Given the description of an element on the screen output the (x, y) to click on. 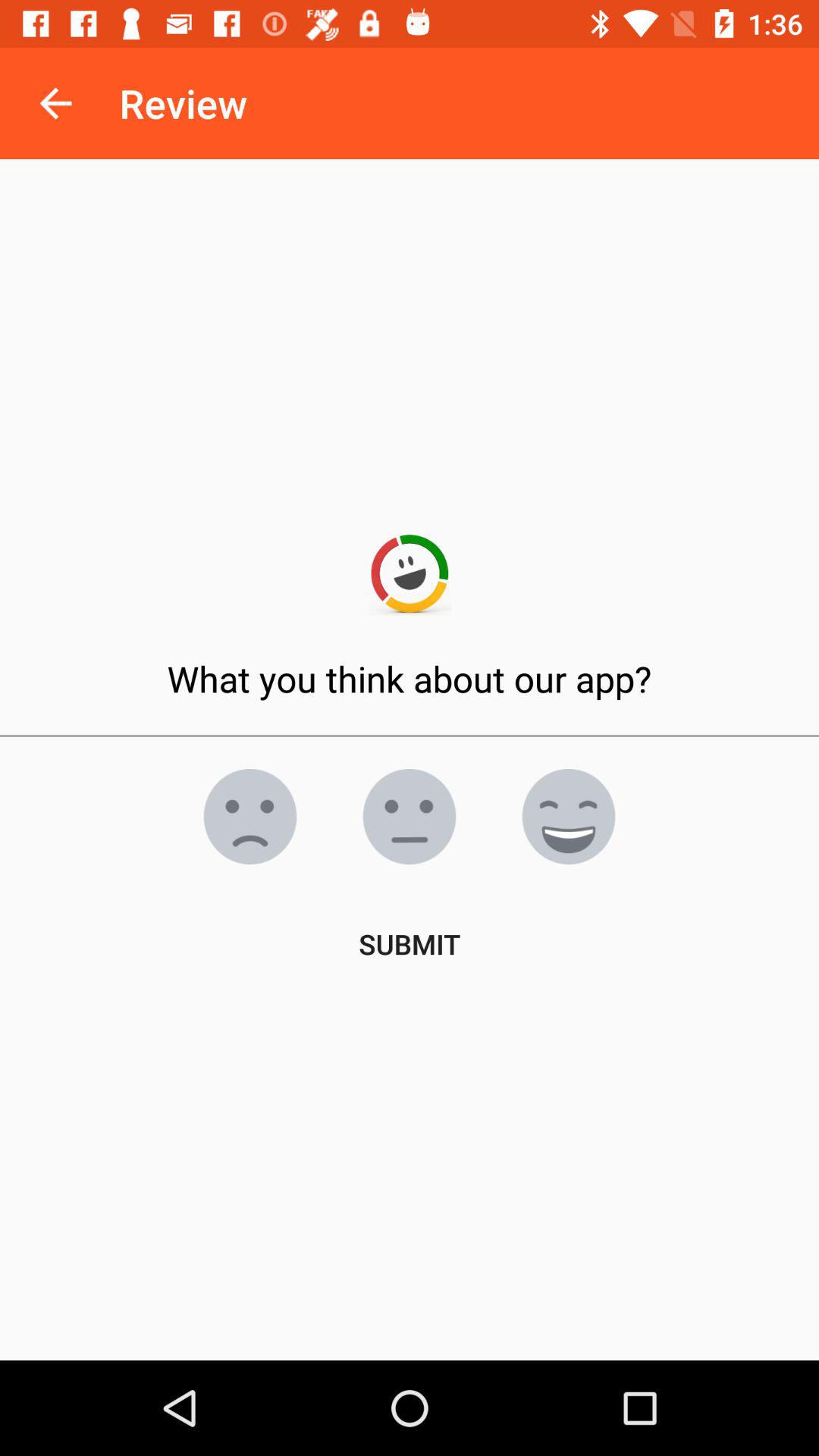
click item above the submit (409, 816)
